Given the description of an element on the screen output the (x, y) to click on. 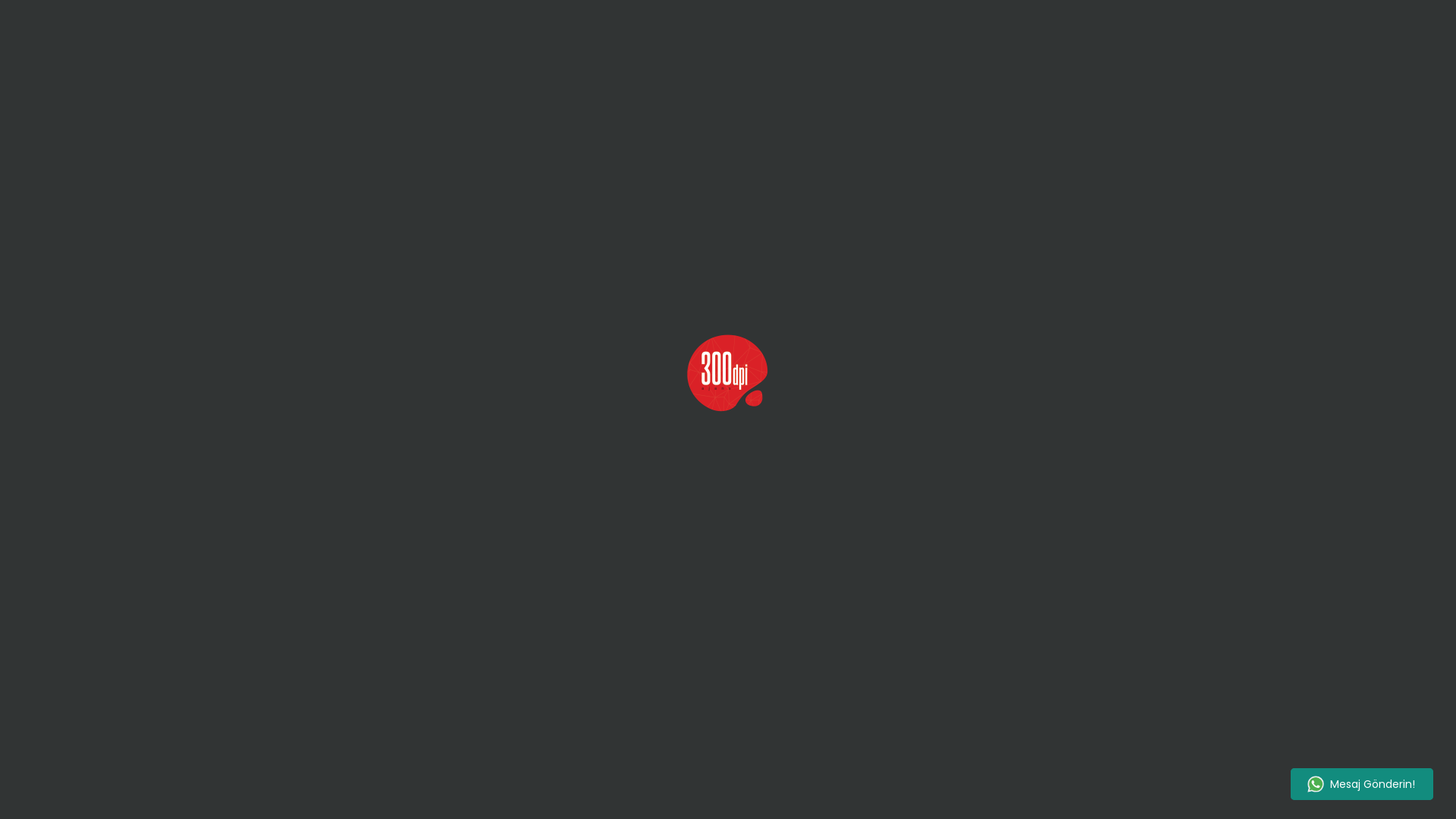
Facebook Element type: text (135, 788)
LinkedIn Element type: text (276, 788)
Instagram Element type: text (207, 788)
